Given the description of an element on the screen output the (x, y) to click on. 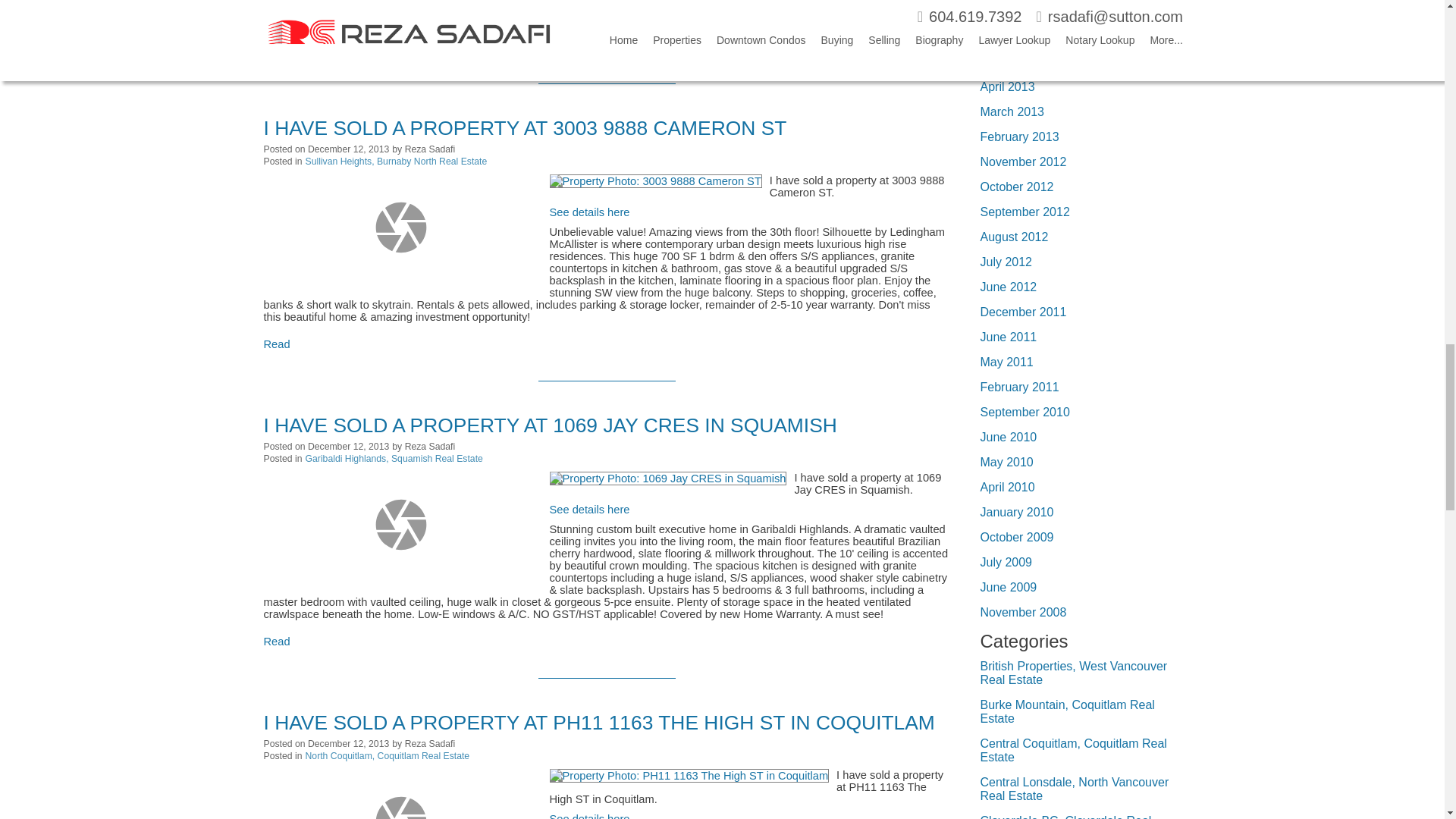
Read full post (400, 790)
Read full post (400, 524)
Read full post (400, 227)
